Given the description of an element on the screen output the (x, y) to click on. 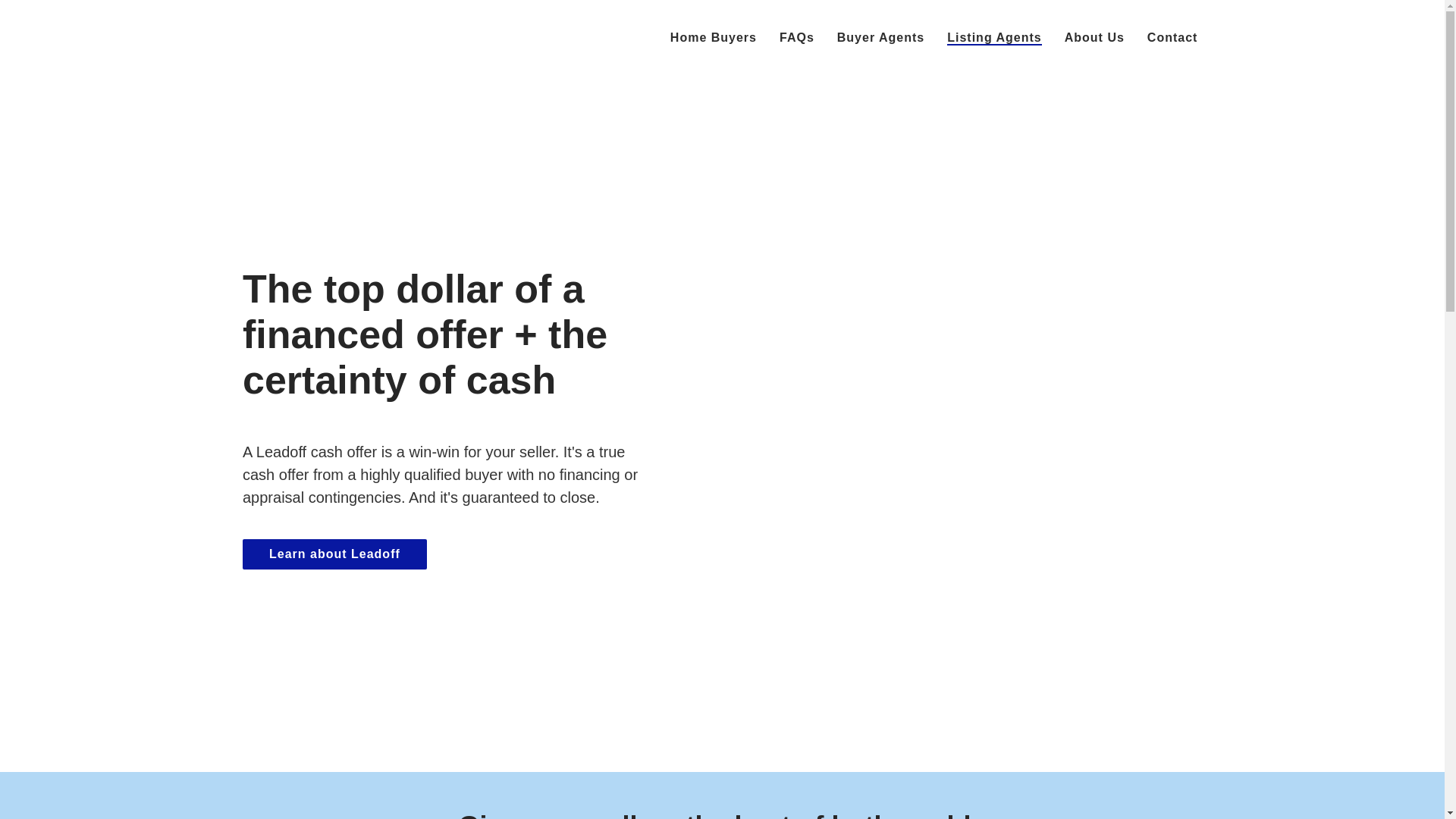
FAQs (795, 37)
Home Buyers (713, 37)
Learn about Leadoff (334, 554)
Contact (1172, 37)
Listing Agents (994, 37)
About Us (1094, 37)
Buyer Agents (880, 37)
